Given the description of an element on the screen output the (x, y) to click on. 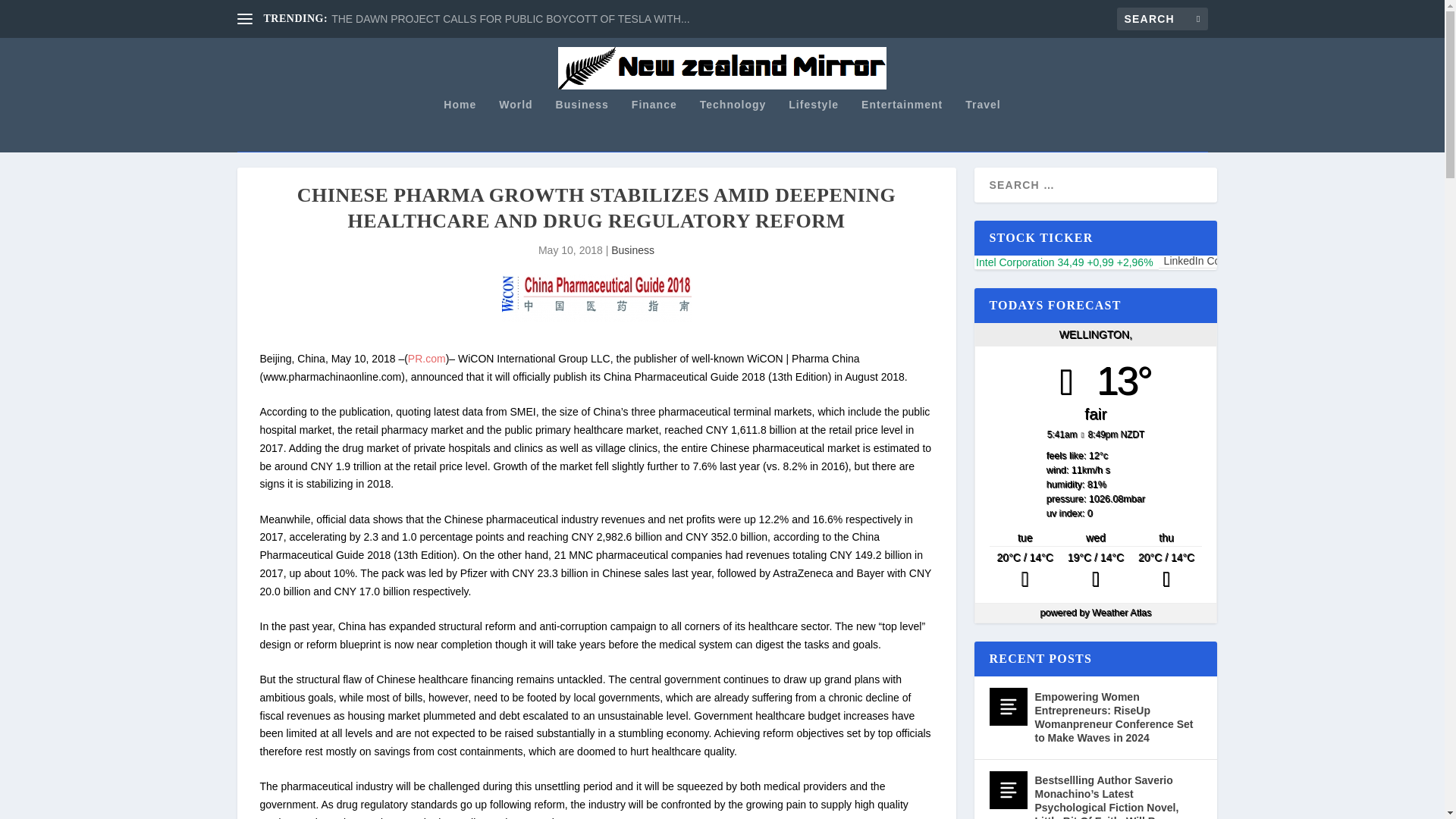
PR.com (426, 358)
Business (582, 124)
Business (632, 250)
Lifestyle (813, 124)
Technology (733, 124)
Entertainment (901, 124)
Search for: (1161, 18)
THE DAWN PROJECT CALLS FOR PUBLIC BOYCOTT OF TESLA WITH... (509, 19)
